Given the description of an element on the screen output the (x, y) to click on. 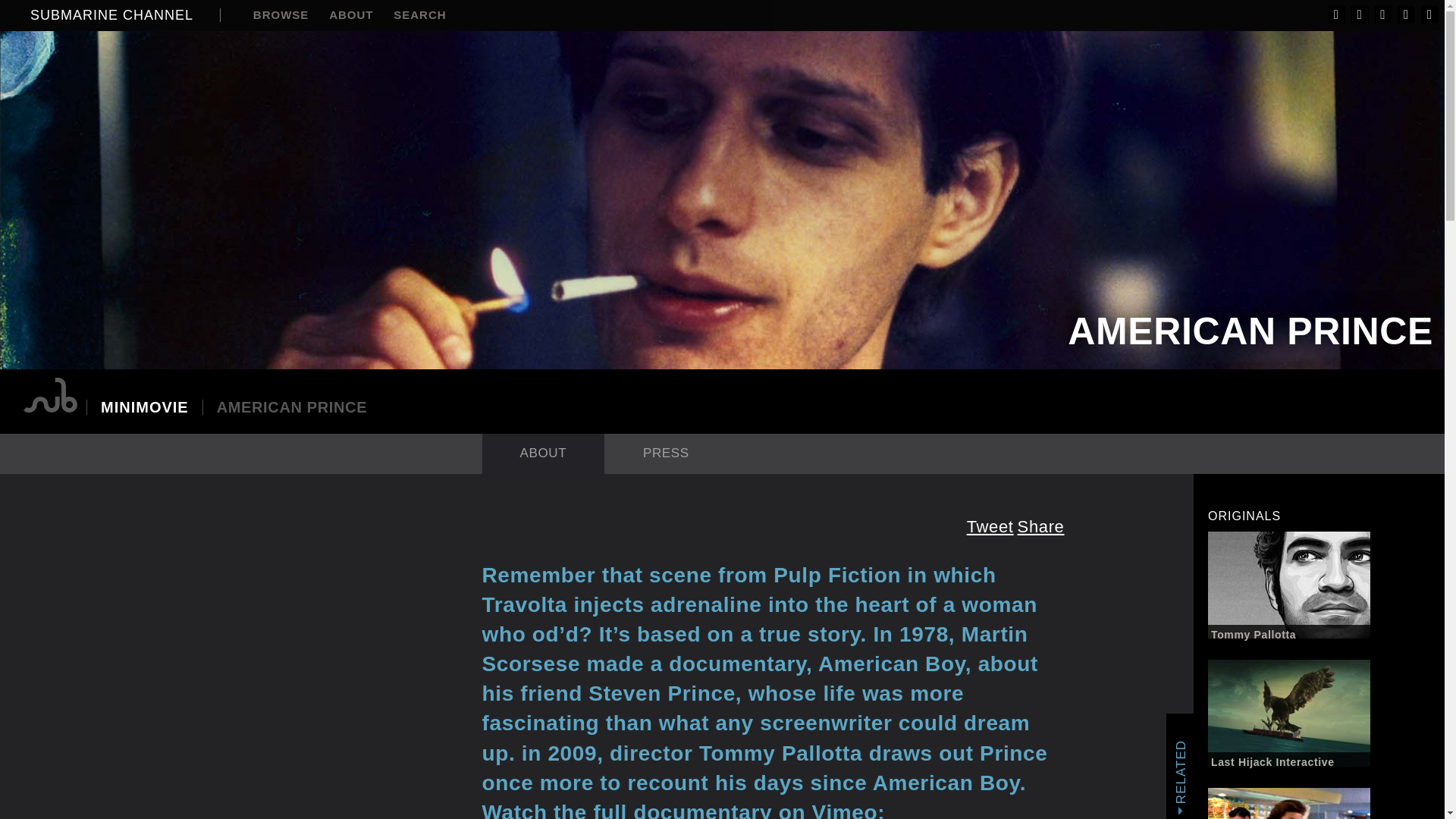
Tweet (989, 526)
PRESS (665, 453)
Share (1040, 526)
MINIMOVIE (144, 406)
SUBMARINE CHANNEL (125, 15)
ABOUT (543, 453)
SEARCH (419, 15)
ABOUT (350, 15)
